Given the description of an element on the screen output the (x, y) to click on. 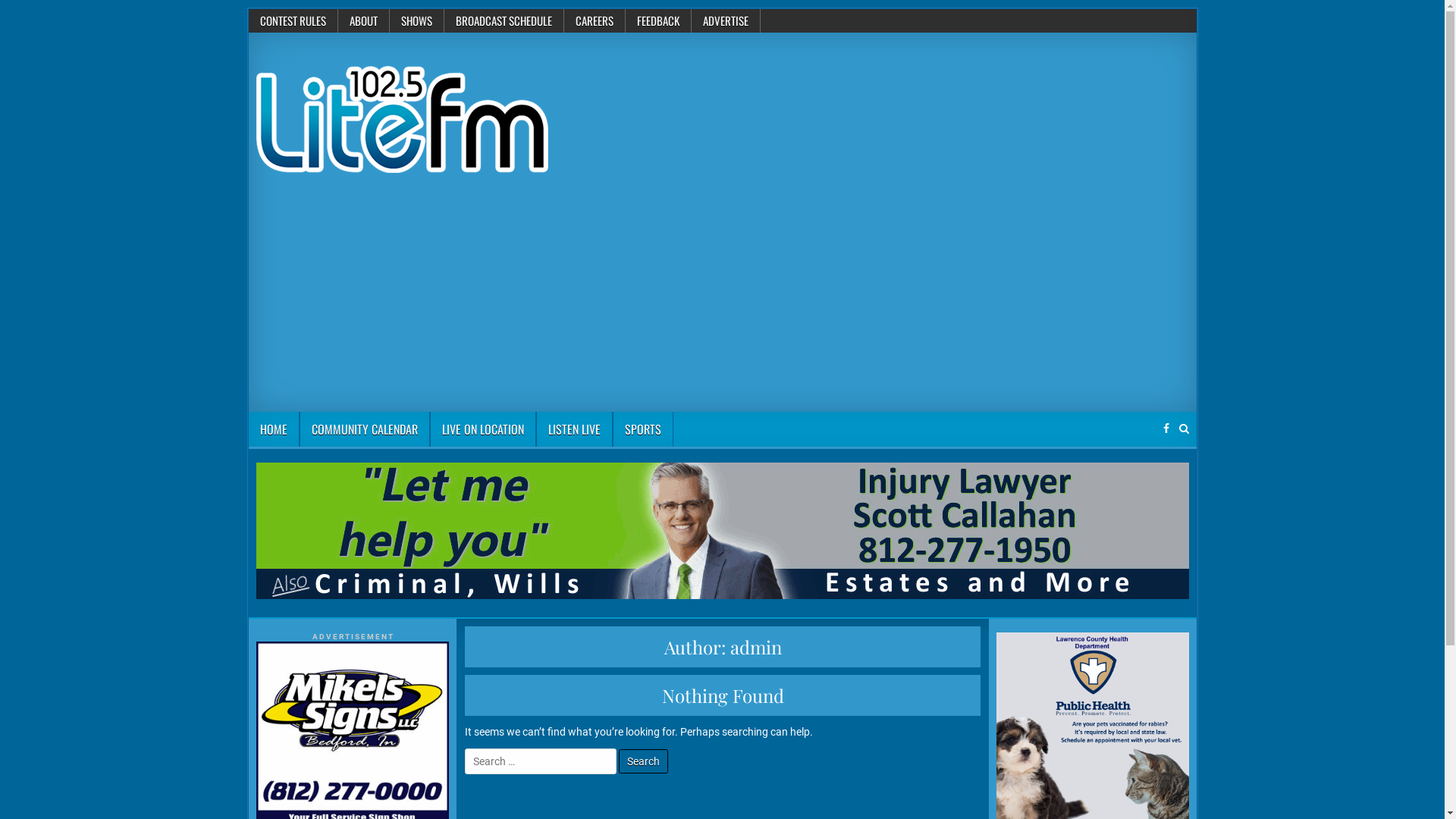
HOME Element type: text (273, 428)
LIVE ON LOCATION Element type: text (482, 428)
FEEDBACK Element type: text (657, 20)
SHOWS Element type: text (416, 20)
Facebook Element type: hover (1166, 428)
CONTEST RULES Element type: text (293, 20)
BROADCAST SCHEDULE Element type: text (504, 20)
ABOUT Element type: text (363, 20)
LISTEN LIVE Element type: text (573, 428)
Search Element type: text (643, 761)
ADVERTISE Element type: text (725, 20)
A D V E R T I S E M E N T Element type: text (352, 636)
Search Element type: hover (1183, 428)
Advertisement Element type: hover (721, 297)
SPORTS Element type: text (642, 428)
CAREERS Element type: text (594, 20)
COMMUNITY CALENDAR Element type: text (363, 428)
